Given the description of an element on the screen output the (x, y) to click on. 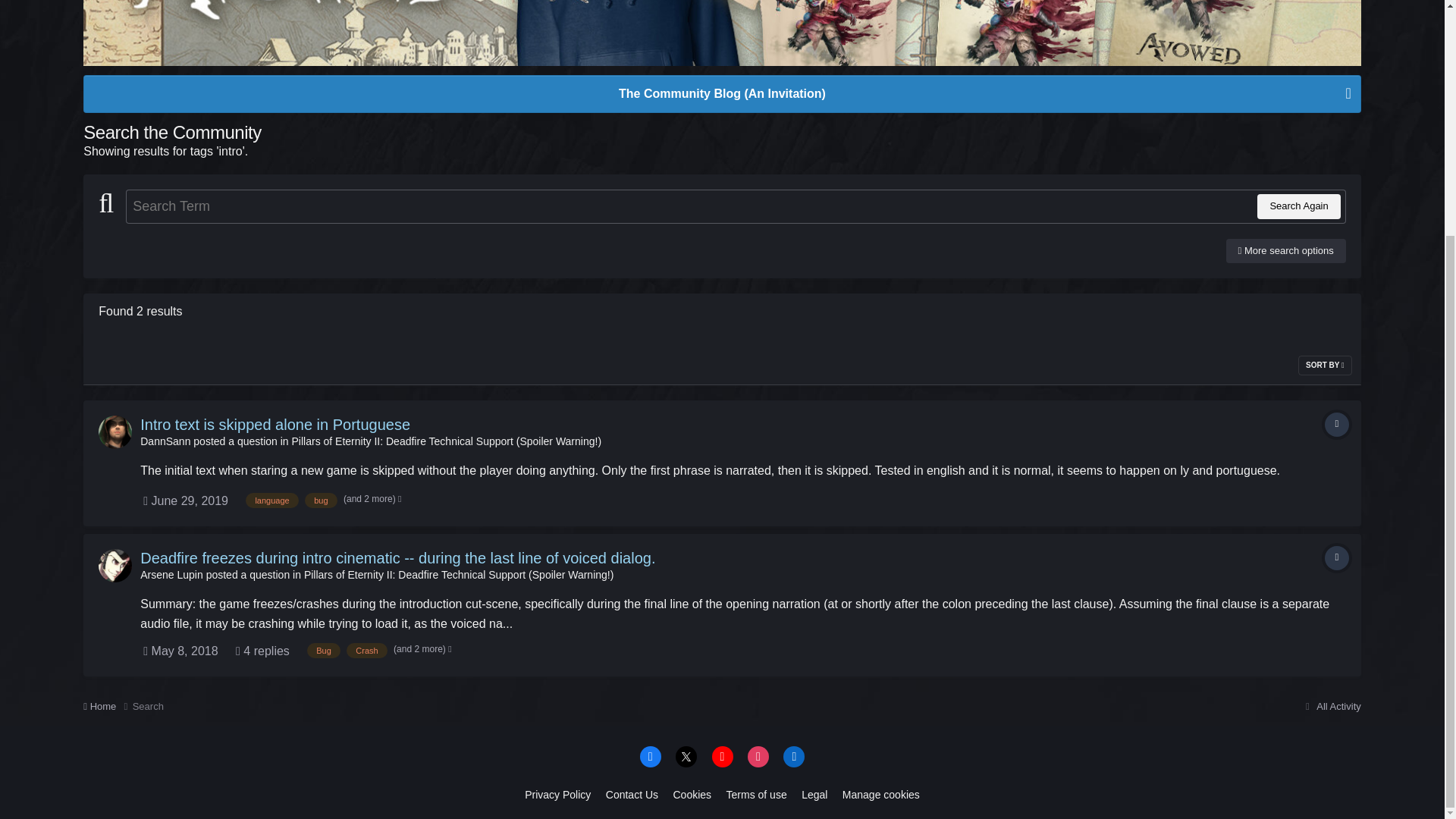
Topic (1336, 558)
Go to Arsene Lupin's profile (115, 565)
Go to Arsene Lupin's profile (171, 574)
Find other content tagged with 'bug' (320, 500)
Find other content tagged with 'Crash' (366, 650)
Topic (1336, 424)
Find other content tagged with 'Bug' (323, 650)
Find other content tagged with 'language' (272, 500)
Go to DannSann's profile (115, 431)
Go to DannSann's profile (164, 440)
